Given the description of an element on the screen output the (x, y) to click on. 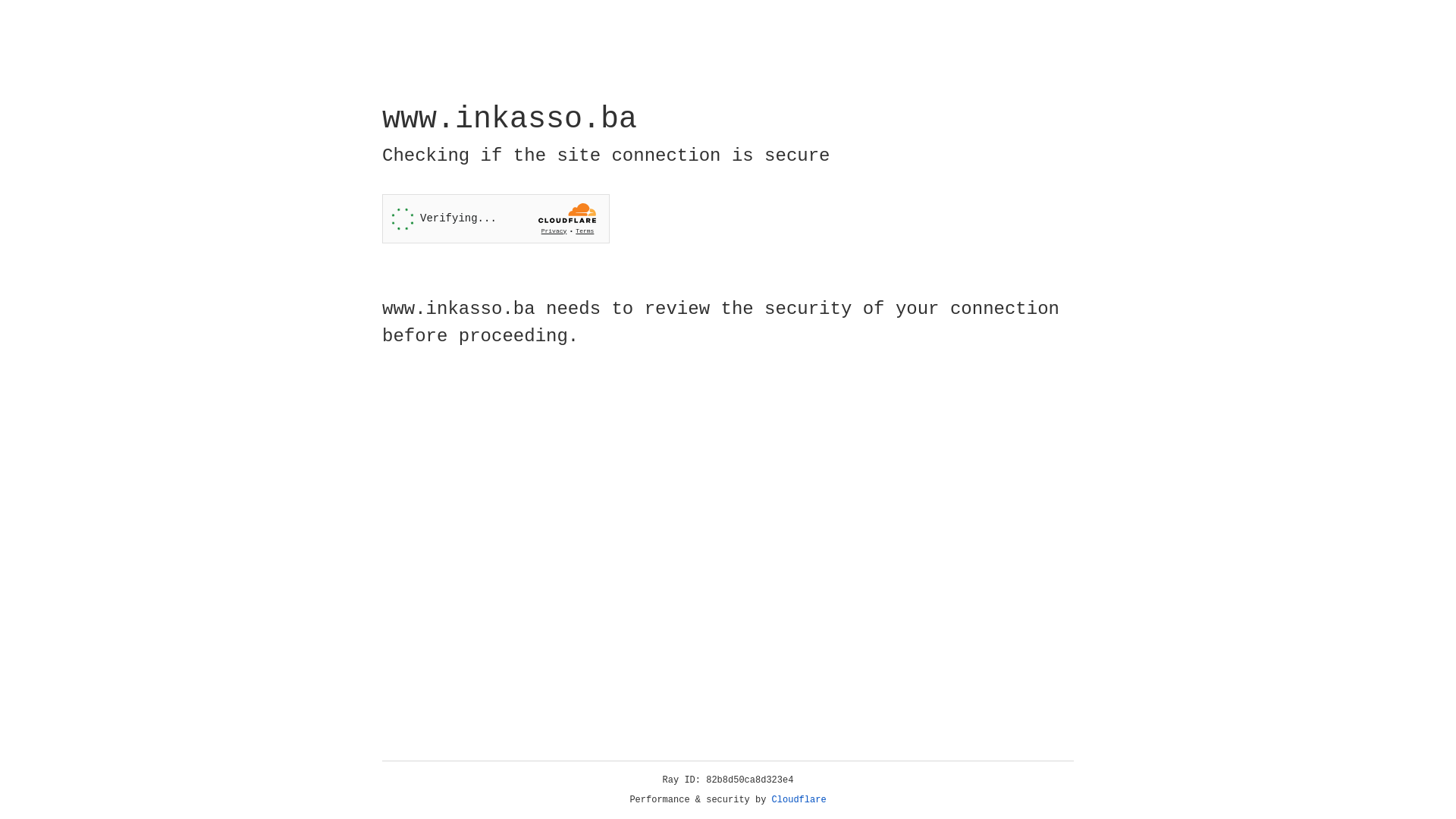
Cloudflare Element type: text (798, 799)
Widget containing a Cloudflare security challenge Element type: hover (495, 218)
